Given the description of an element on the screen output the (x, y) to click on. 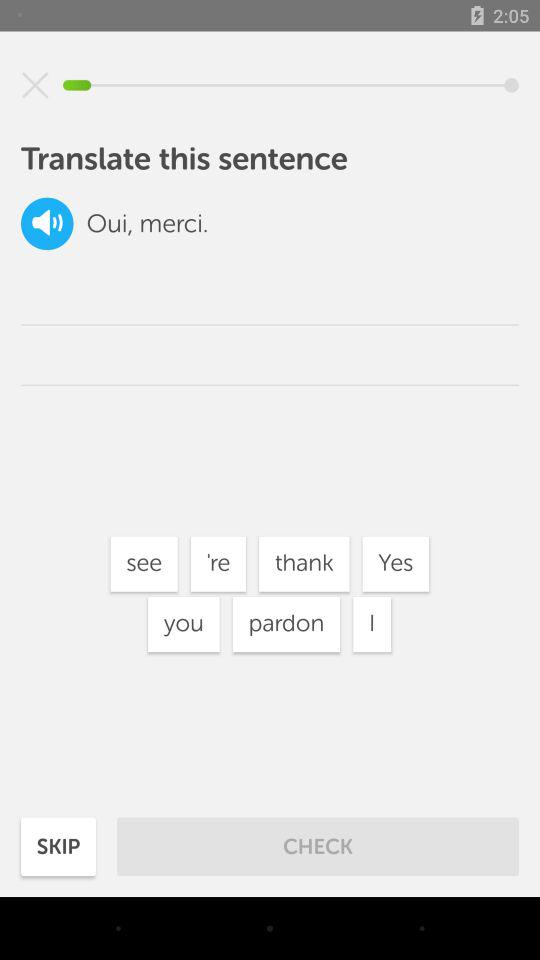
swipe to 're (218, 563)
